Given the description of an element on the screen output the (x, y) to click on. 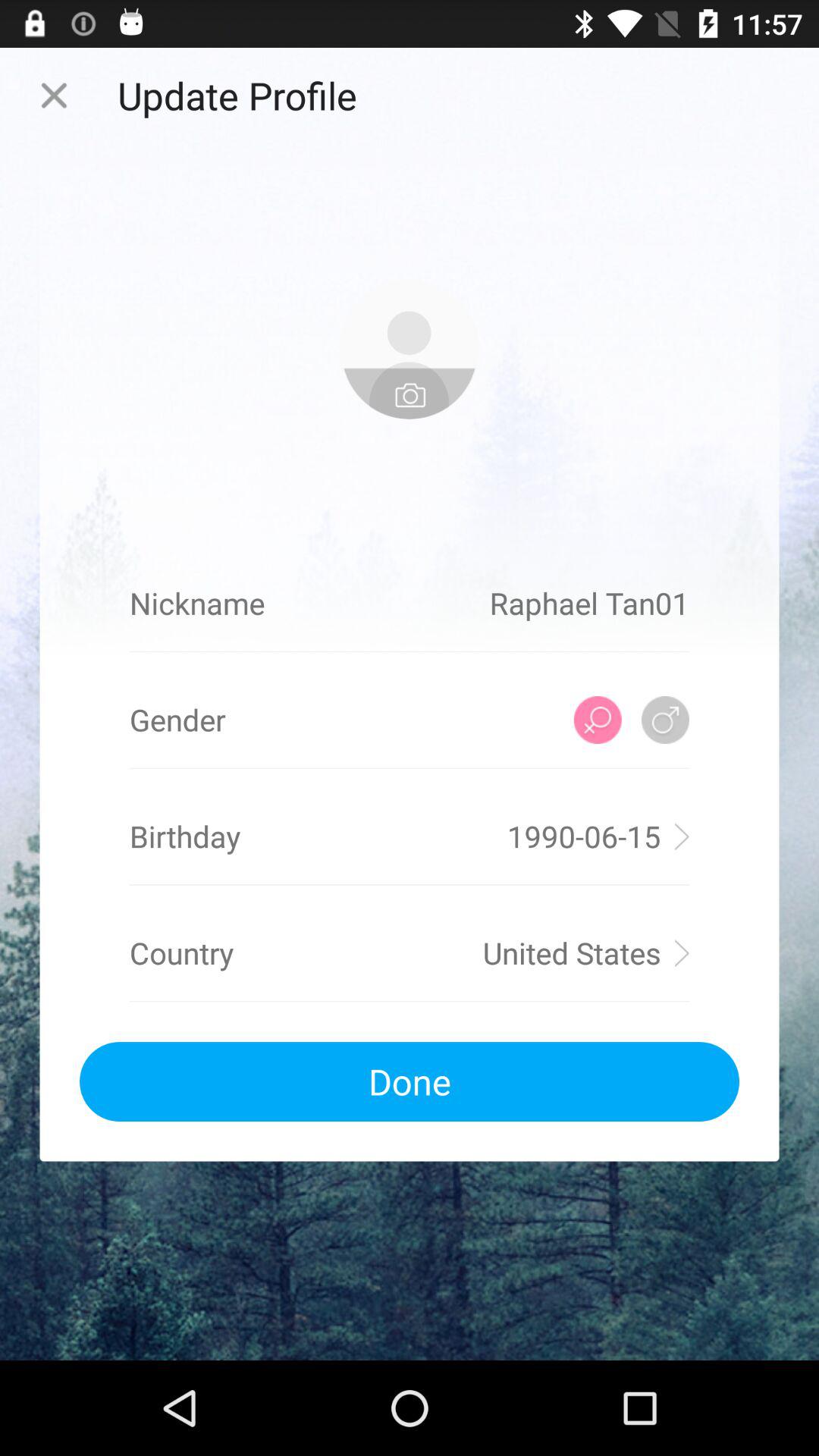
close the page (53, 95)
